Given the description of an element on the screen output the (x, y) to click on. 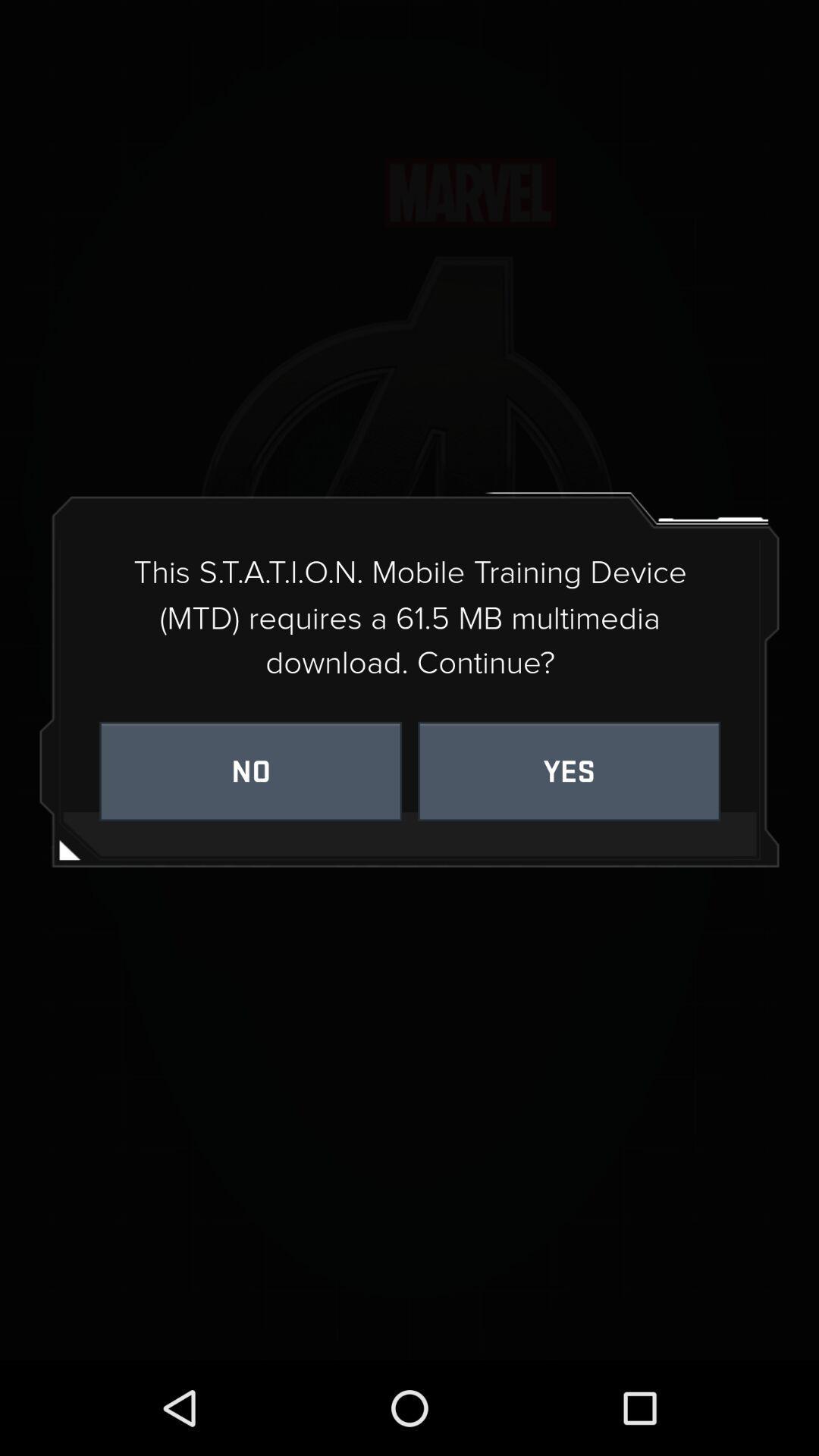
click the item next to yes icon (250, 771)
